Given the description of an element on the screen output the (x, y) to click on. 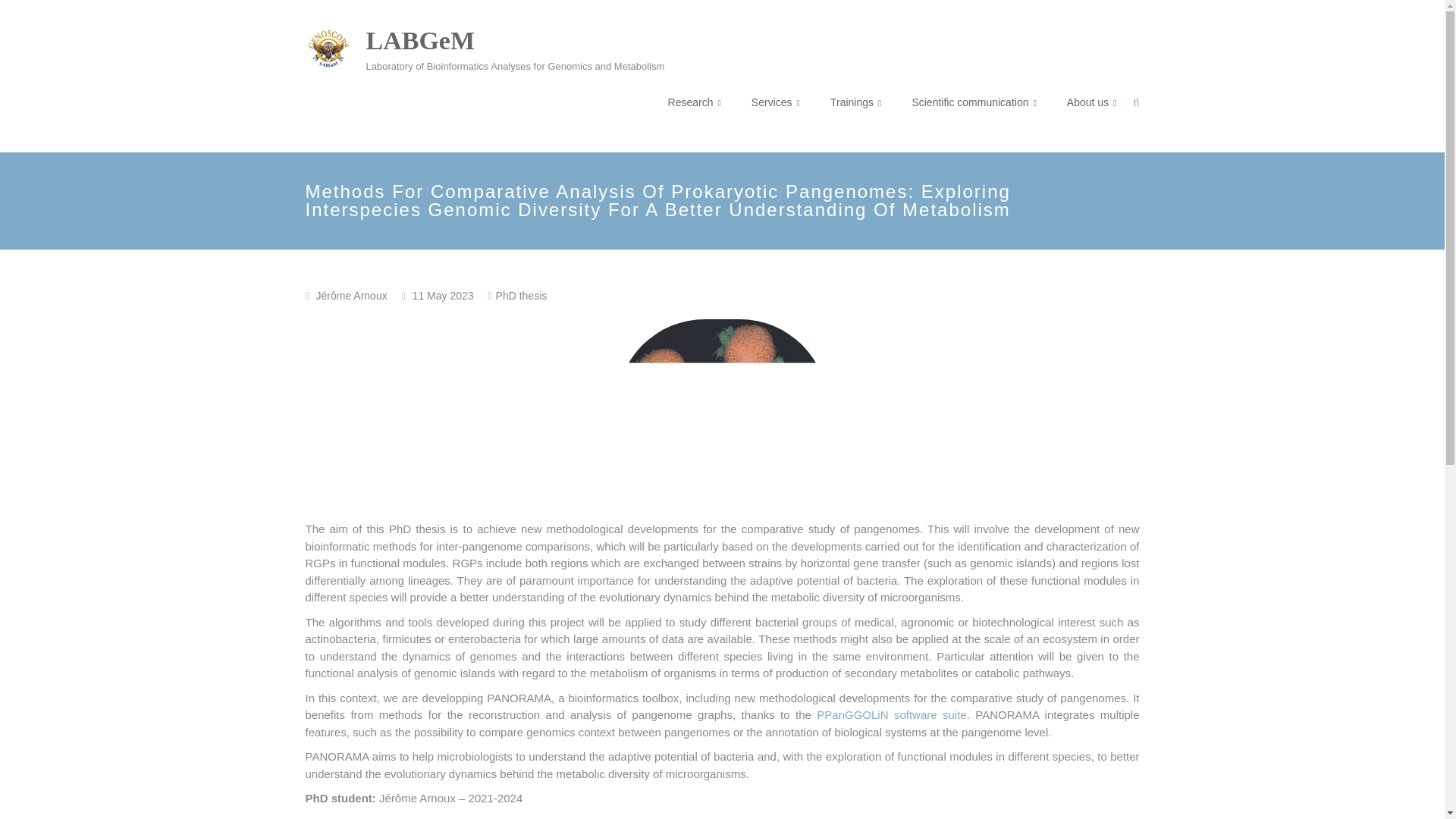
Research (694, 102)
Scientific communication (973, 102)
LABGeM (419, 40)
Services (775, 102)
11 May 2023 (443, 295)
About us (1091, 102)
PhD thesis (521, 295)
17 h 16 min (443, 295)
Trainings (854, 102)
LABGeM (419, 40)
PPanGGOLiN software suite (891, 714)
